Given the description of an element on the screen output the (x, y) to click on. 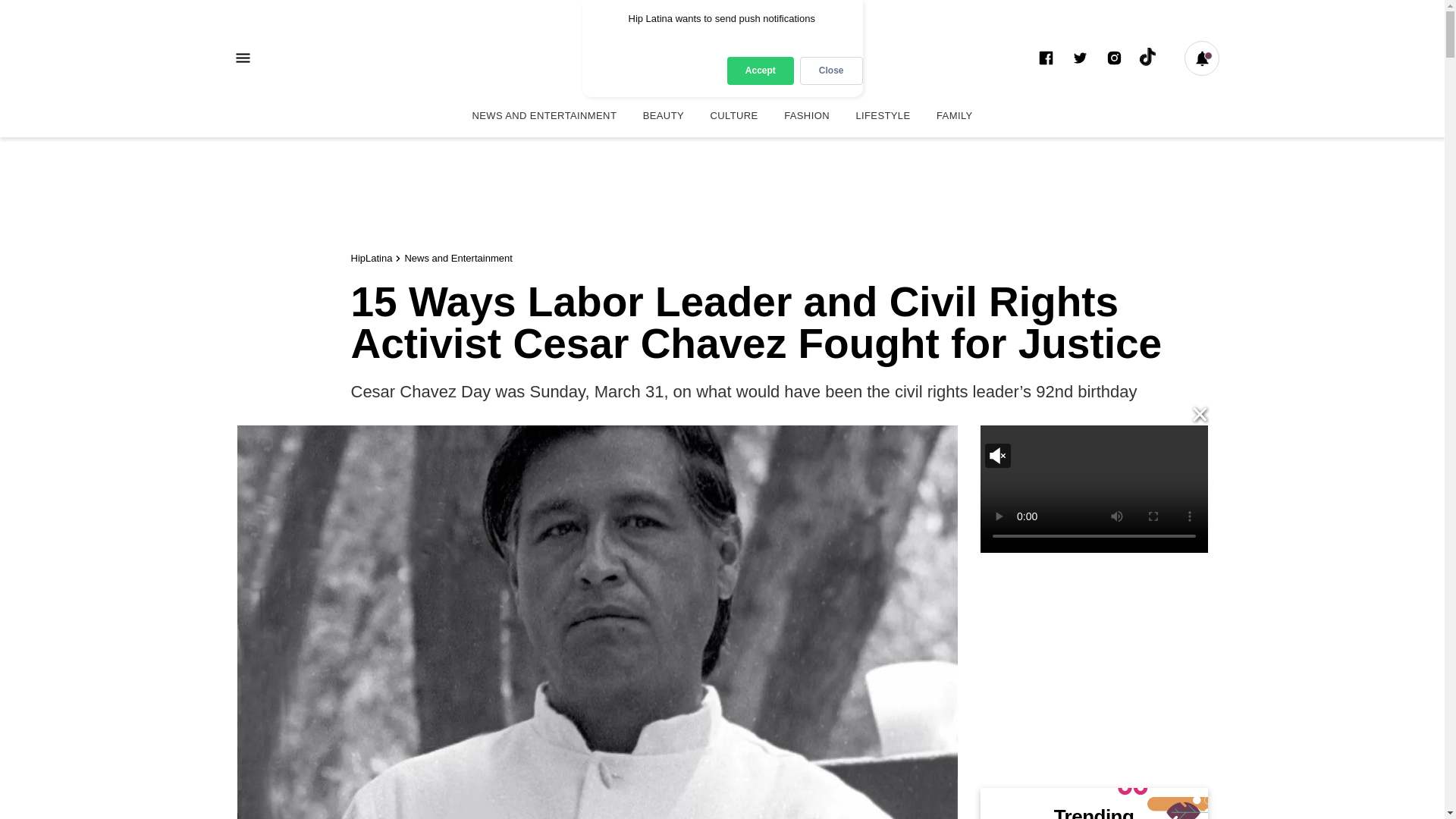
FAMILY (954, 115)
News and Entertainment (458, 258)
NEWS AND ENTERTAINMENT (543, 115)
Beauty (663, 115)
LIFESTYLE (882, 115)
Follow HipLatina on twitter (1079, 57)
FASHION (807, 115)
Family (954, 115)
Fashion (807, 115)
News and Entertainment (543, 115)
HipLatina (721, 57)
HipLatina (370, 258)
CULTURE (734, 115)
Lifestyle (882, 115)
News and Entertainment (458, 258)
